Given the description of an element on the screen output the (x, y) to click on. 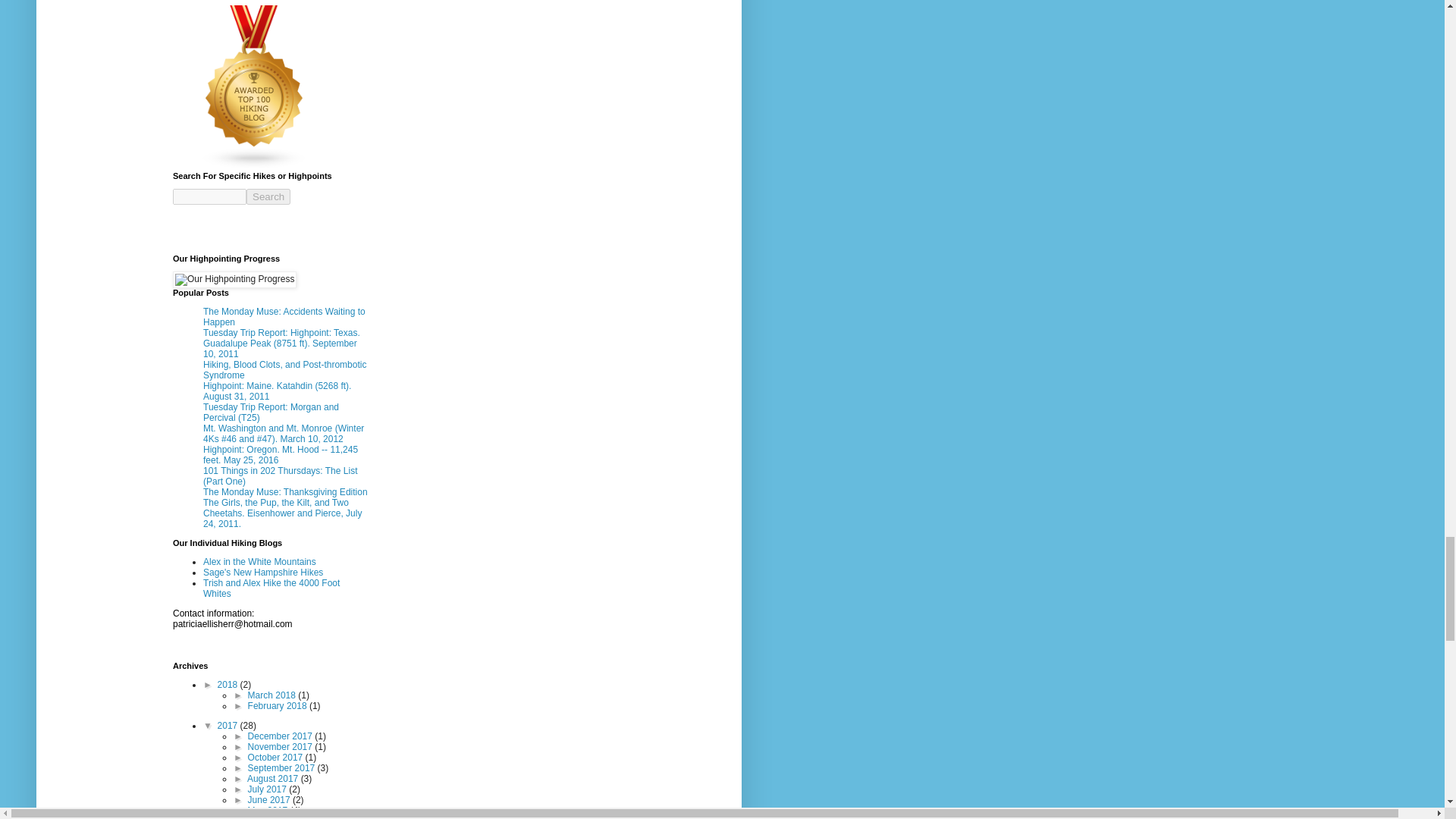
Search (267, 196)
Search (267, 196)
